Given the description of an element on the screen output the (x, y) to click on. 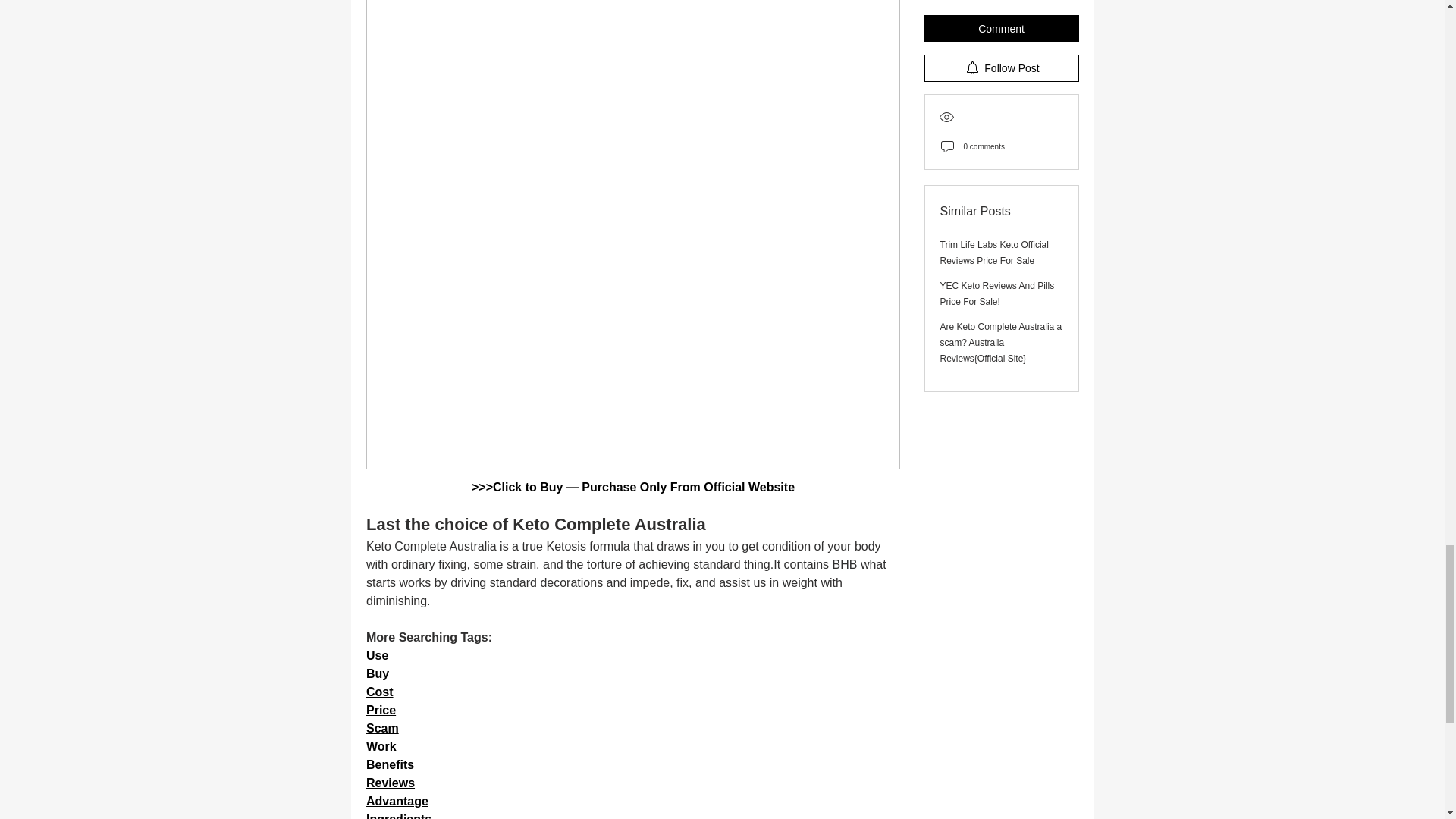
Benefits (389, 764)
Price (379, 709)
Ingredients (397, 816)
Work (380, 746)
Cost (379, 691)
Buy (376, 673)
Advantage (396, 800)
Reviews (389, 782)
Scam (381, 727)
Use (376, 655)
